Given the description of an element on the screen output the (x, y) to click on. 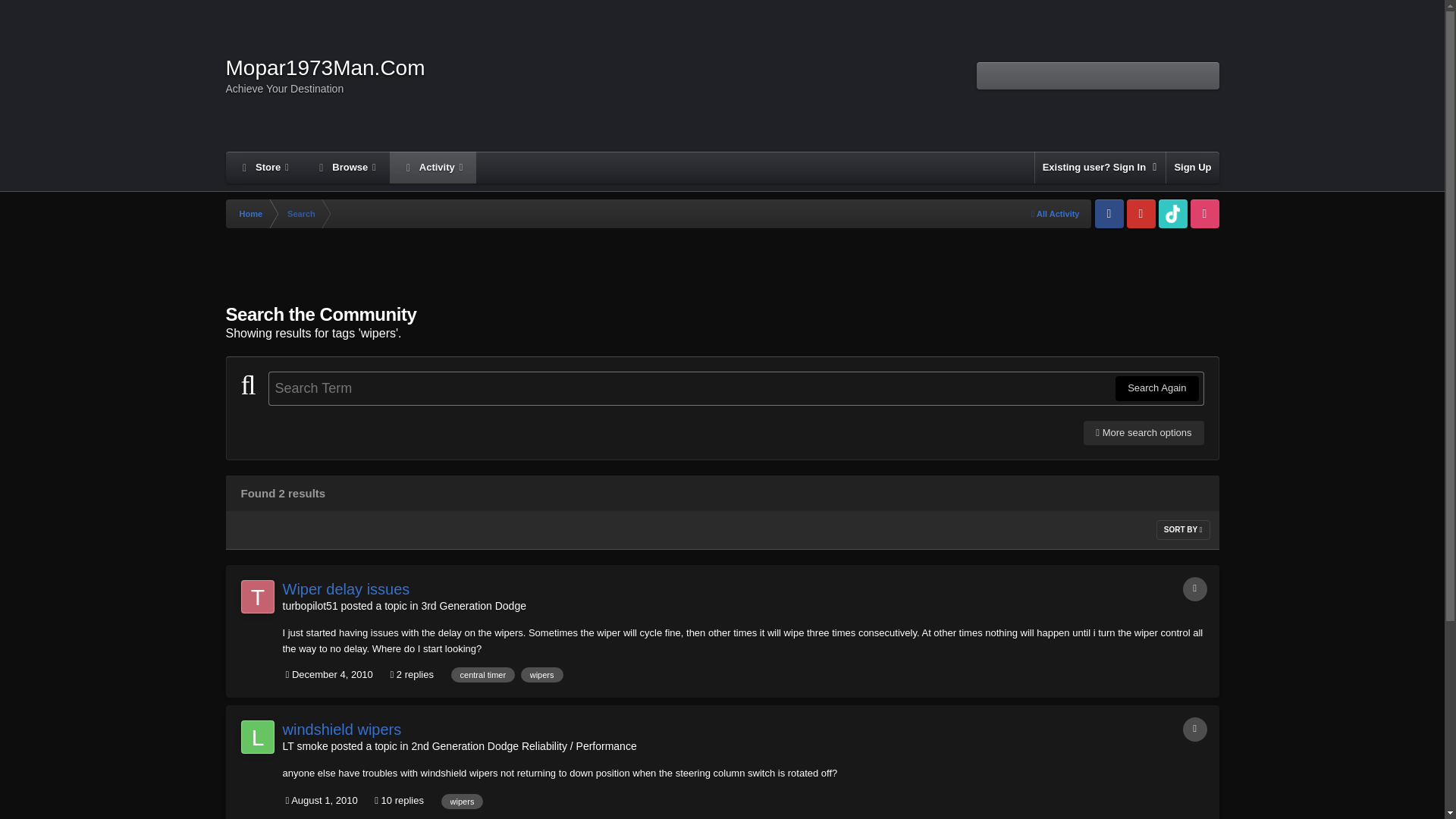
Go to turbopilot51's profile (309, 605)
Home (250, 213)
Find other content tagged with 'wipers' (462, 801)
Browse (346, 167)
Go to turbopilot51's profile (258, 596)
Sign Up (1192, 167)
Go to LT smoke's profile (258, 736)
Topic (1194, 729)
Topic (1194, 589)
Go to LT smoke's profile (304, 746)
